Given the description of an element on the screen output the (x, y) to click on. 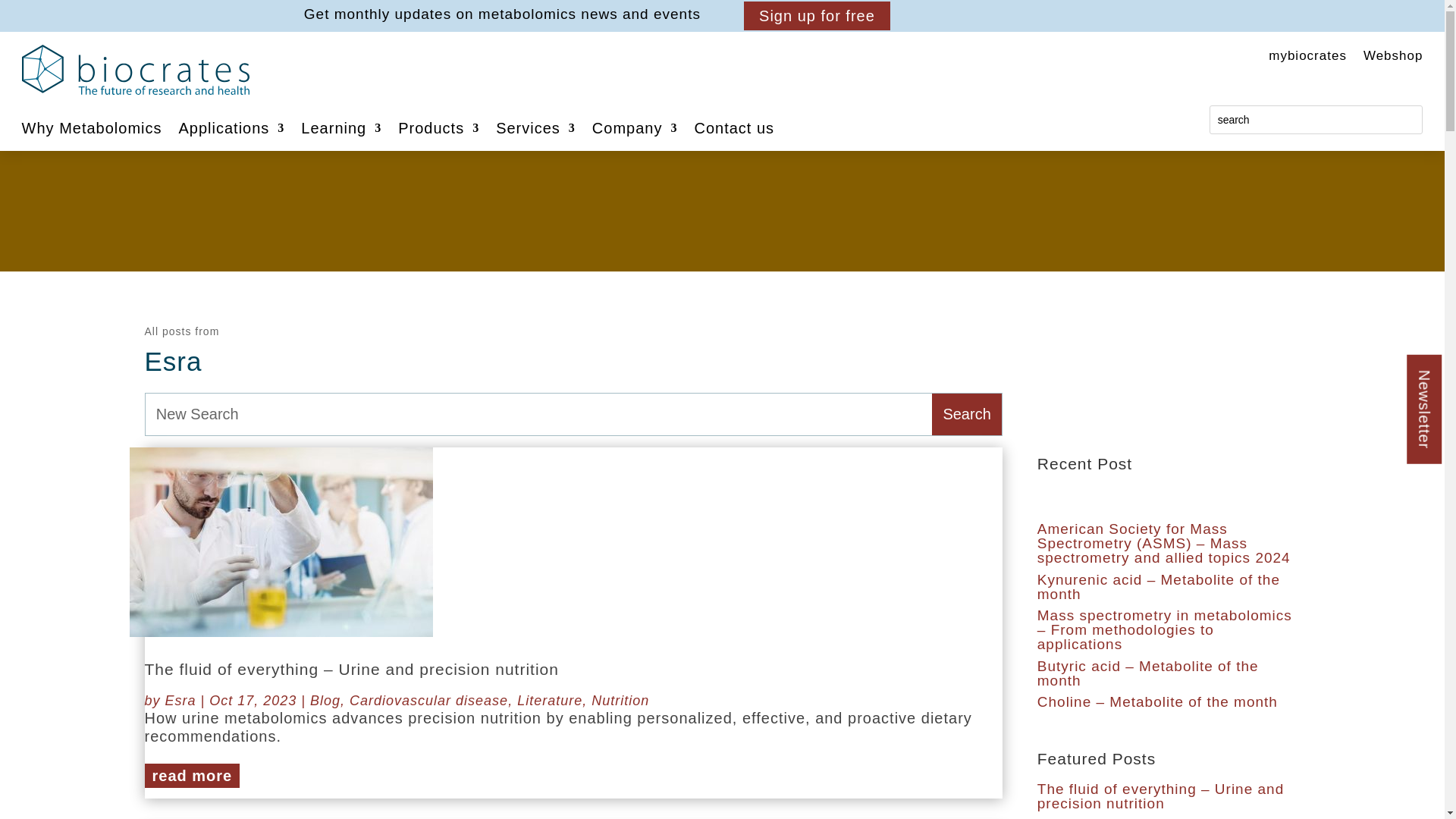
Company (635, 130)
Sign up for free (816, 15)
Search (966, 413)
mybiocrates (1307, 58)
Posts by Esra (180, 700)
Products (438, 130)
Applications (232, 130)
Search (966, 413)
Webshop (1392, 58)
Services (535, 130)
Why Metabolomics (91, 130)
Learning (341, 130)
Biocrates-Logo (134, 70)
